Given the description of an element on the screen output the (x, y) to click on. 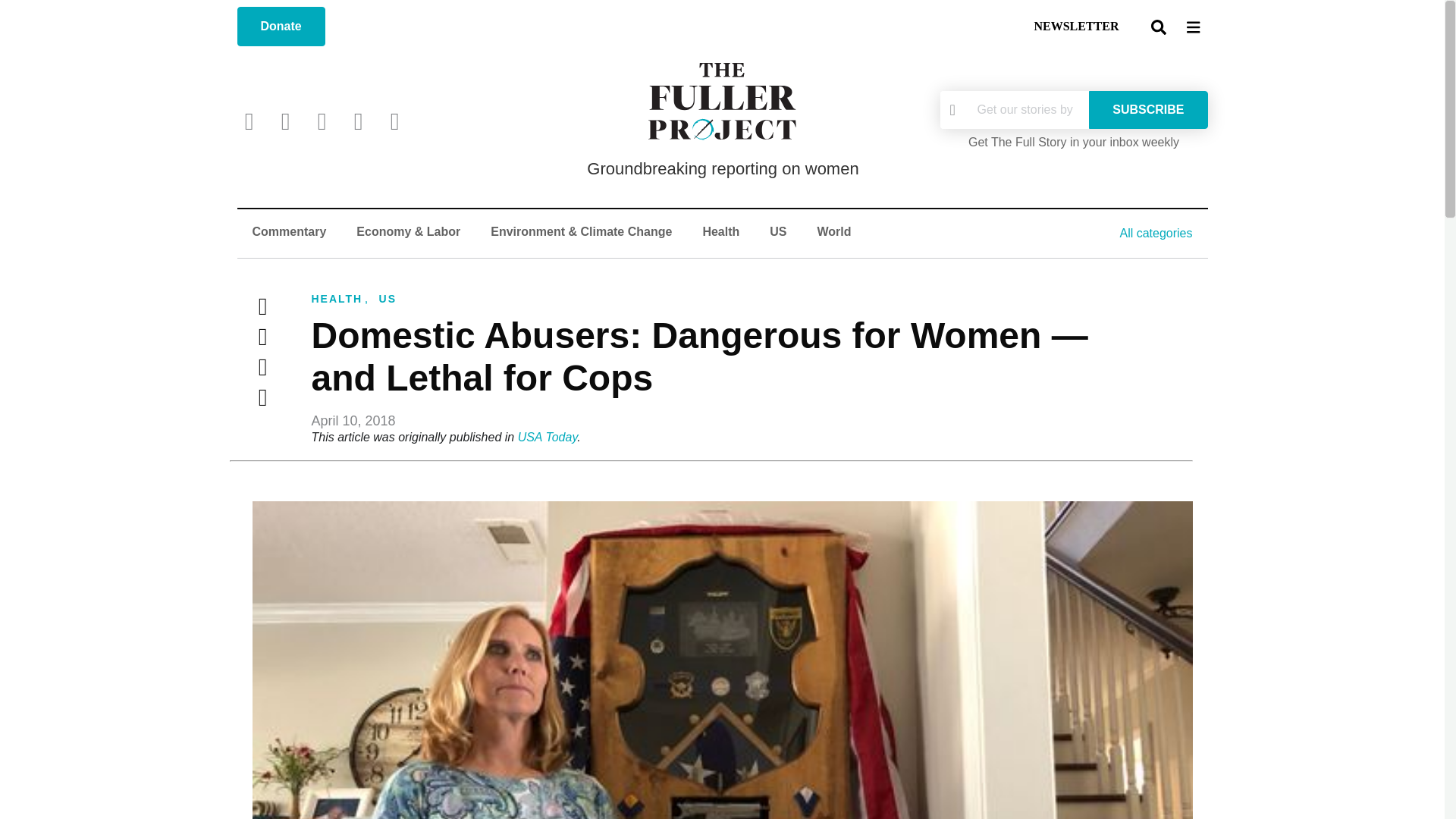
Instagram (320, 120)
SUBSCRIBE (1148, 109)
NEWSLETTER (1075, 26)
Twitter (247, 120)
Menu and search (1176, 26)
Twitter (262, 306)
Donate (279, 25)
Linkedin (262, 396)
Facebook (285, 120)
Email (262, 366)
Mastodon (393, 120)
Linkedin (357, 120)
Facebook (262, 336)
